Given the description of an element on the screen output the (x, y) to click on. 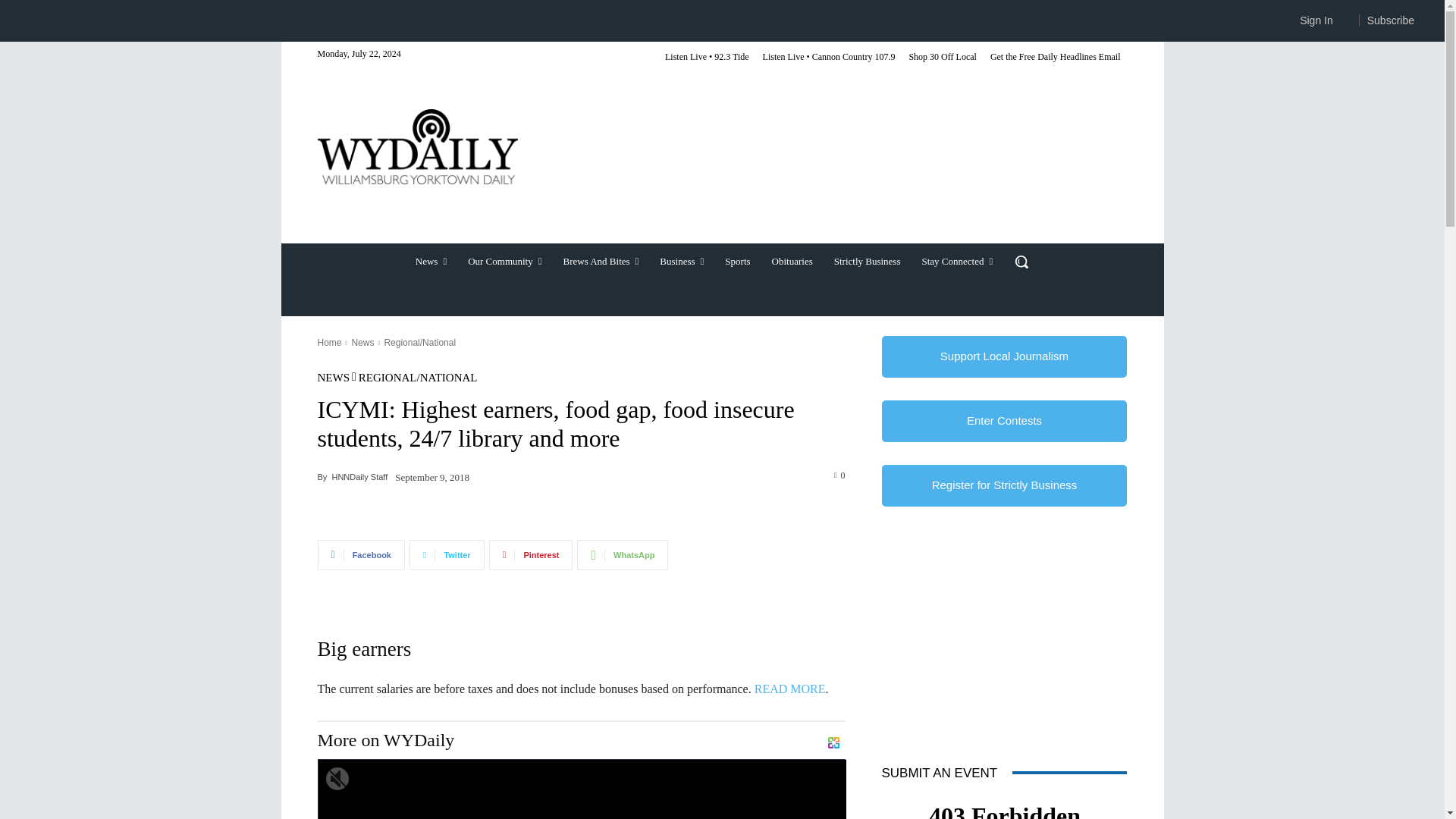
Get the Free Daily Headlines Email (1055, 56)
yb-3i3fo (581, 789)
Pinterest (531, 554)
3rd party ad content (832, 172)
Shop 30 Off Local (941, 56)
WhatsApp (622, 554)
Facebook (360, 554)
News (430, 261)
Twitter (446, 554)
View all posts in News (362, 342)
